Given the description of an element on the screen output the (x, y) to click on. 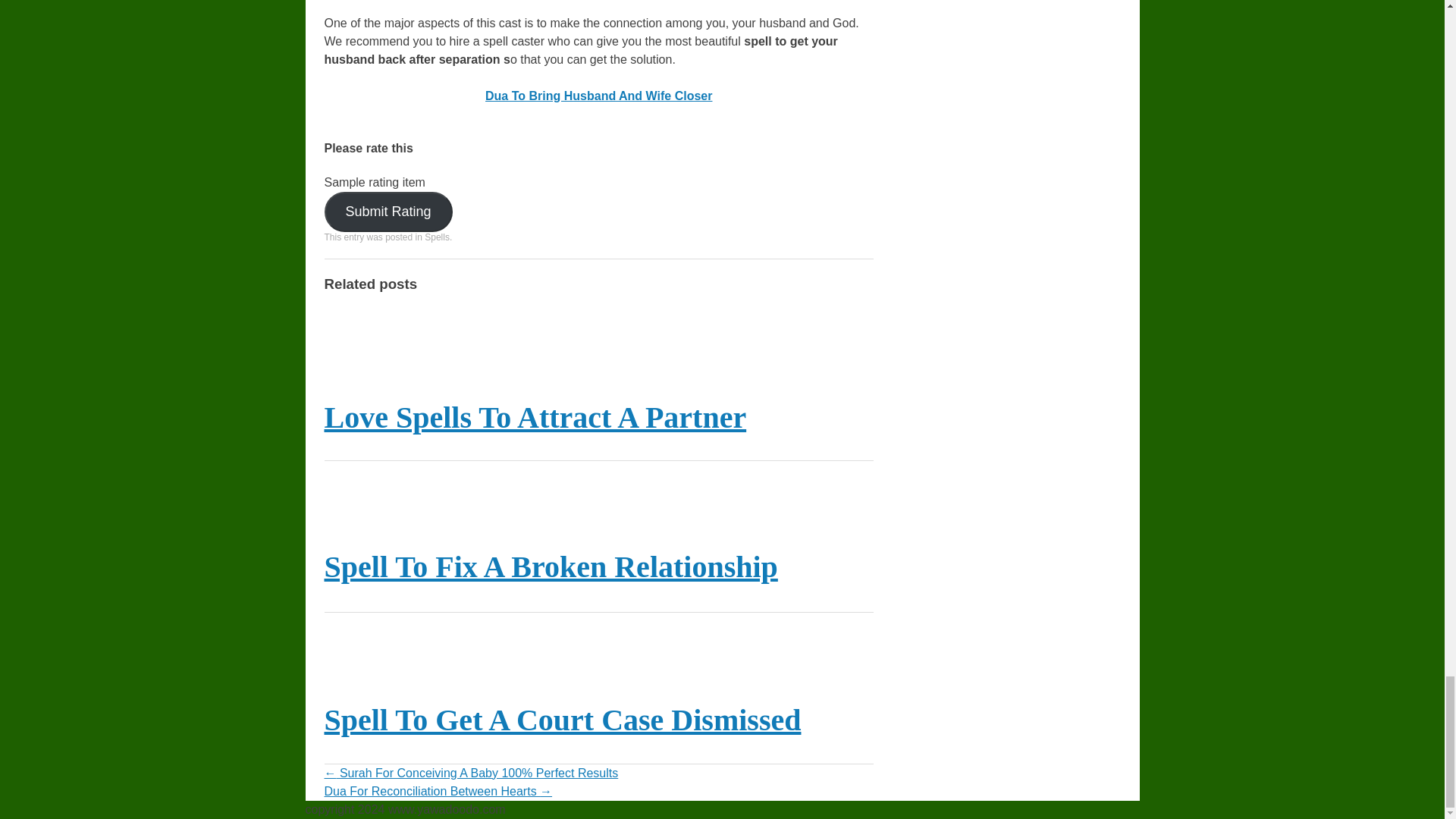
Spell To Fix A Broken Relationship (550, 566)
Submit Rating (388, 211)
Permalink to Spell To Get A Court Case Dismissed (563, 719)
Permalink to Love Spells To Attract A Partner (535, 417)
Love Spells To Attract A Partner (535, 417)
Submit Rating (388, 211)
Dua To Bring Husband And Wife Closer (597, 95)
Spell To Get A Court Case Dismissed (563, 719)
Permalink to Spell To Fix A Broken Relationship (550, 566)
Spells (437, 236)
